Given the description of an element on the screen output the (x, y) to click on. 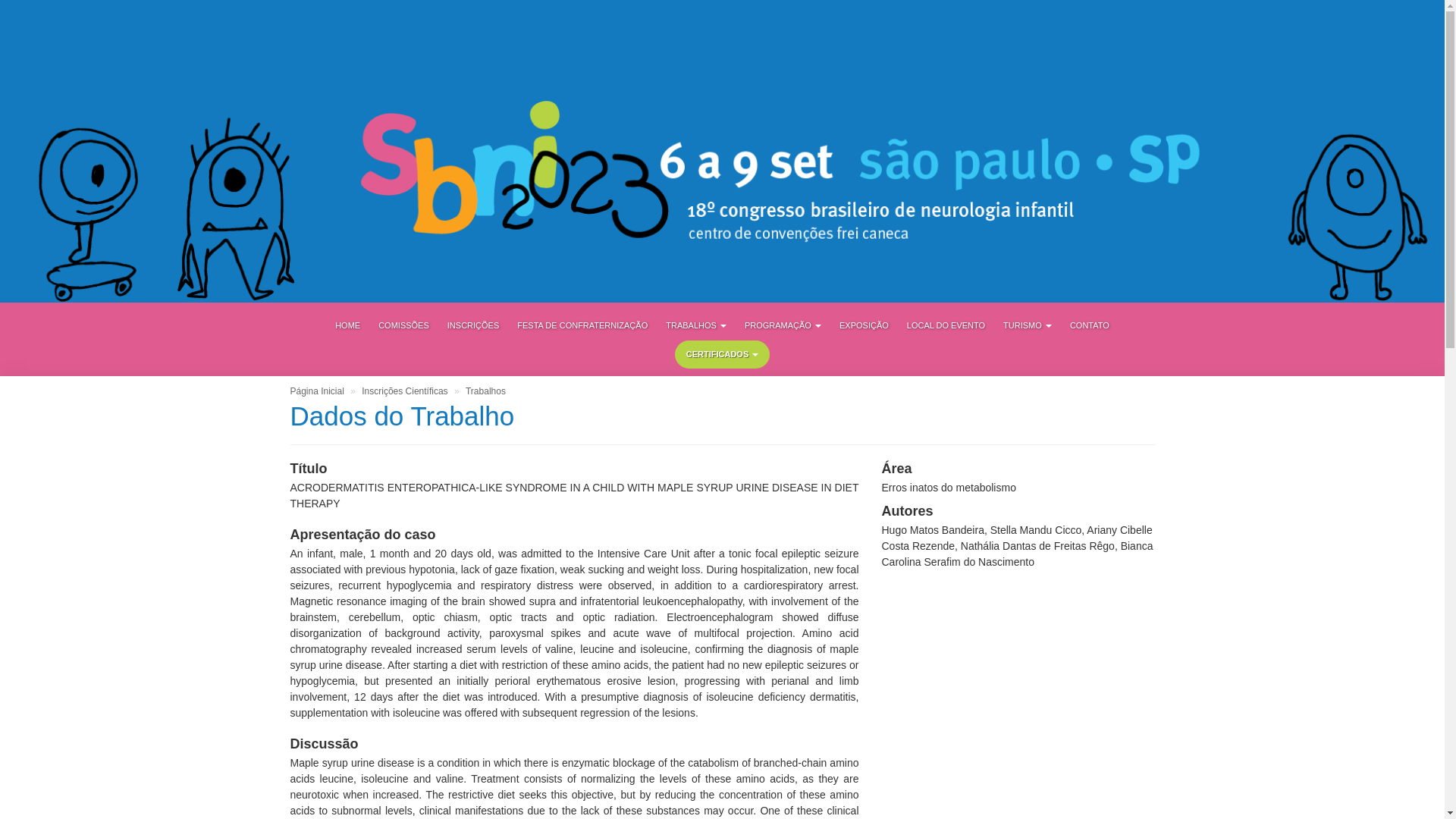
TURISMO (1027, 325)
TRABALHOS (695, 325)
LOCAL DO EVENTO (946, 325)
CONTATO (1089, 325)
HOME (347, 325)
CERTIFICADOS (722, 354)
